Given the description of an element on the screen output the (x, y) to click on. 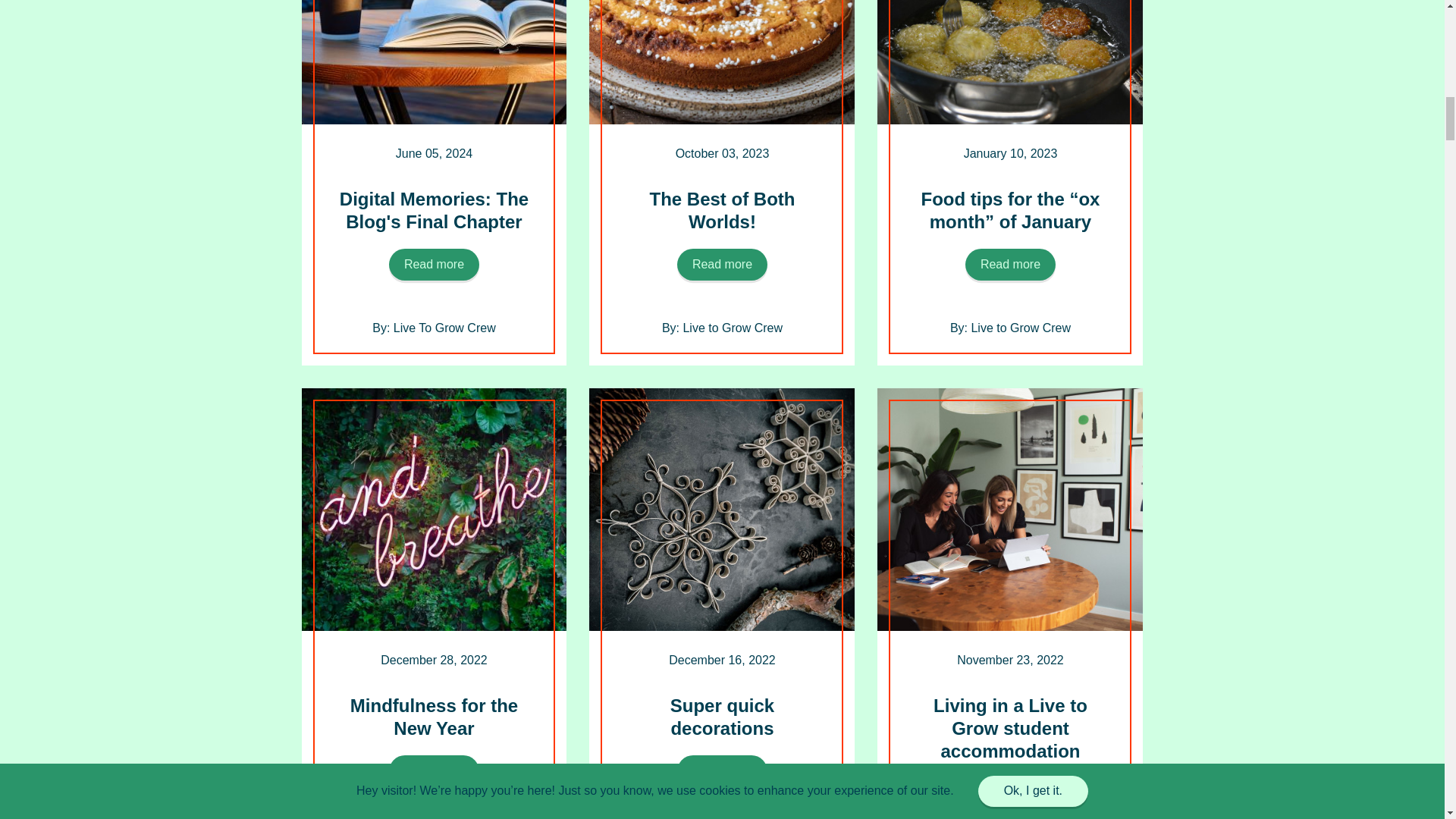
Read more (433, 771)
Read more (1010, 264)
Read more (433, 264)
Read more (1010, 793)
Read more (722, 771)
Read more (722, 264)
